Given the description of an element on the screen output the (x, y) to click on. 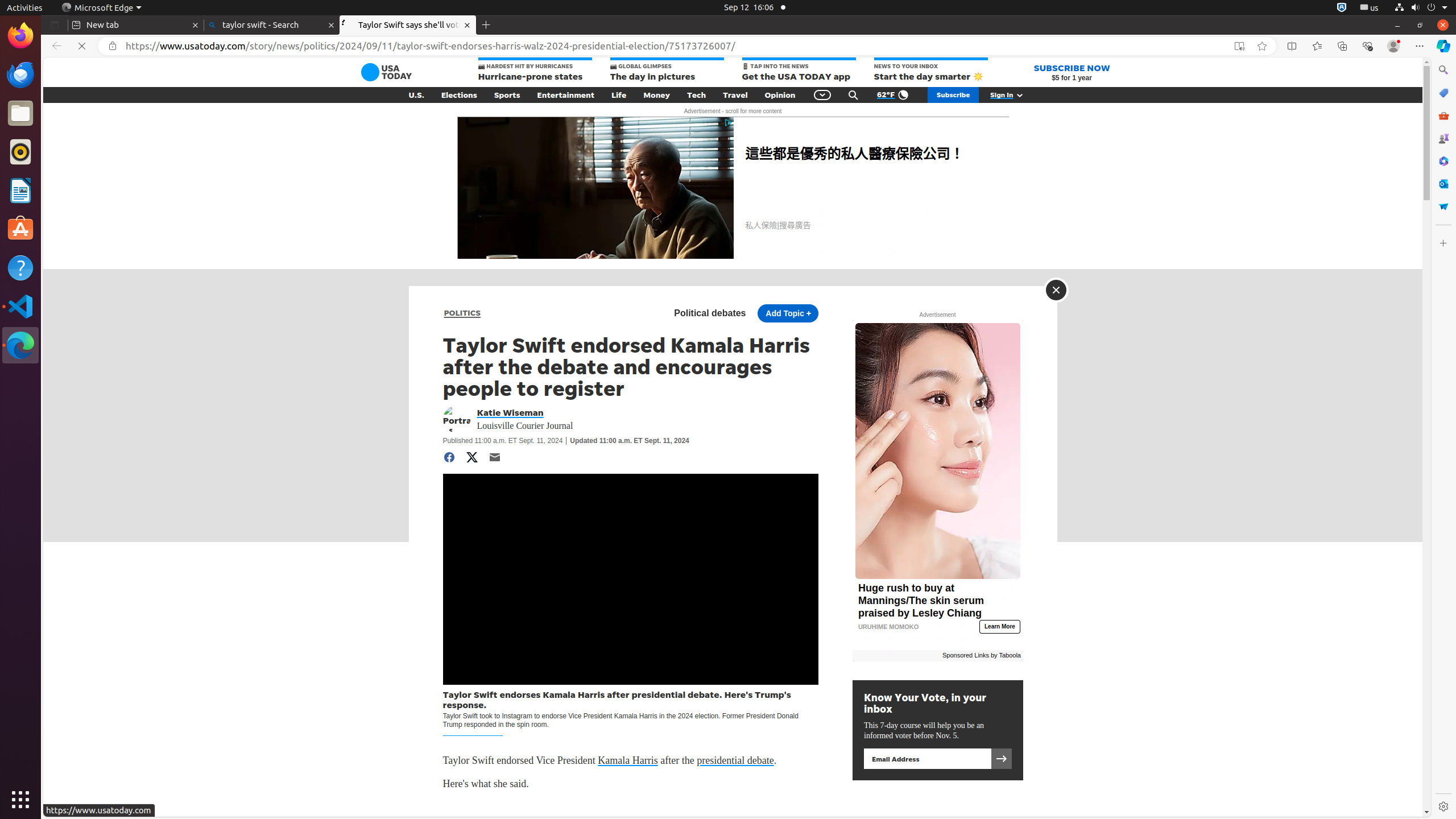
Submit to sign up for newsletter Element type: push-button (1000, 758)
Add Topic Element type: push-button (787, 313)
Tools Element type: push-button (1443, 115)
presidential debate Element type: link (735, 760)
Browser essentials Element type: push-button (1366, 45)
